Given the description of an element on the screen output the (x, y) to click on. 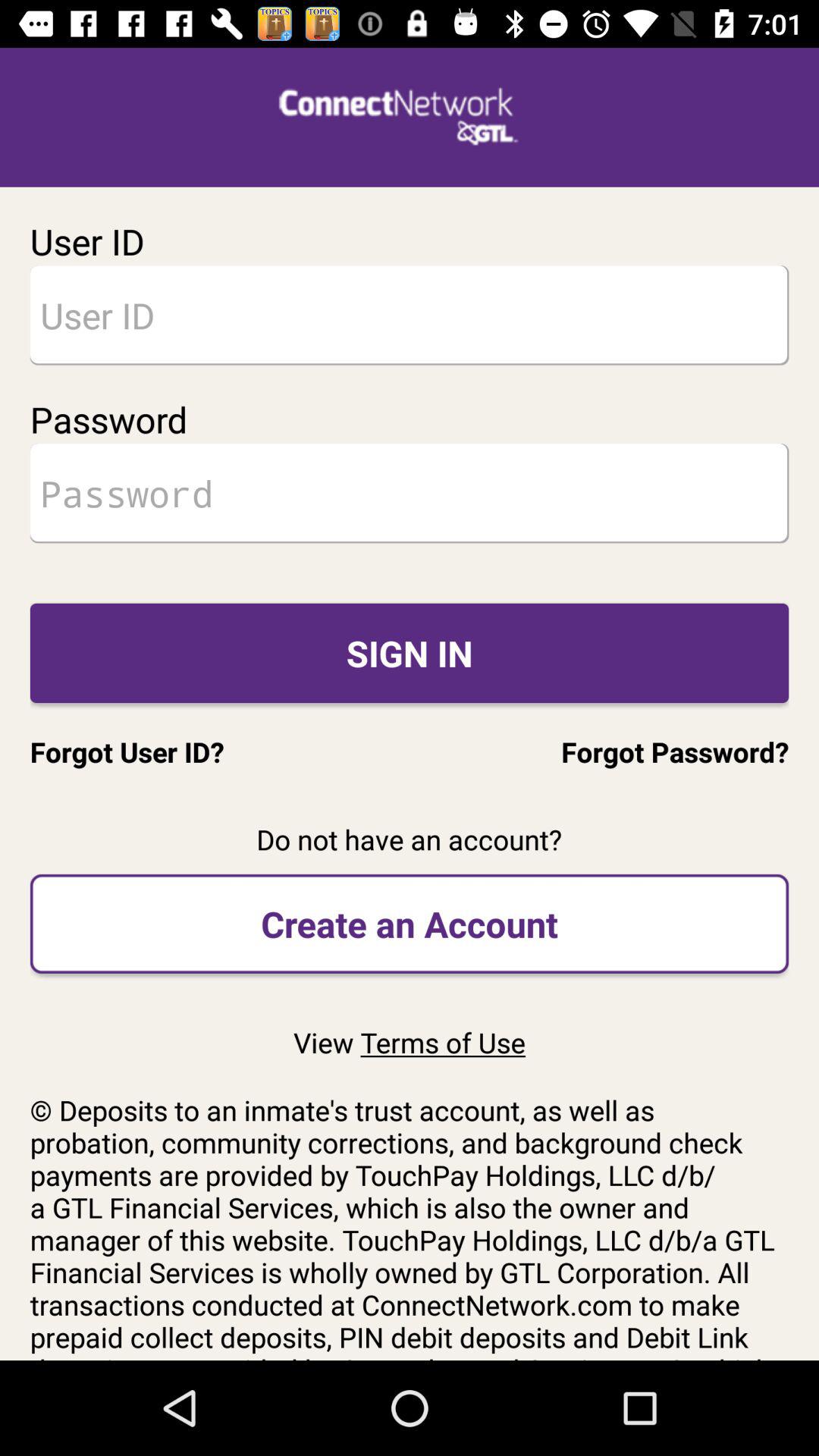
select the view terms of icon (409, 1042)
